Given the description of an element on the screen output the (x, y) to click on. 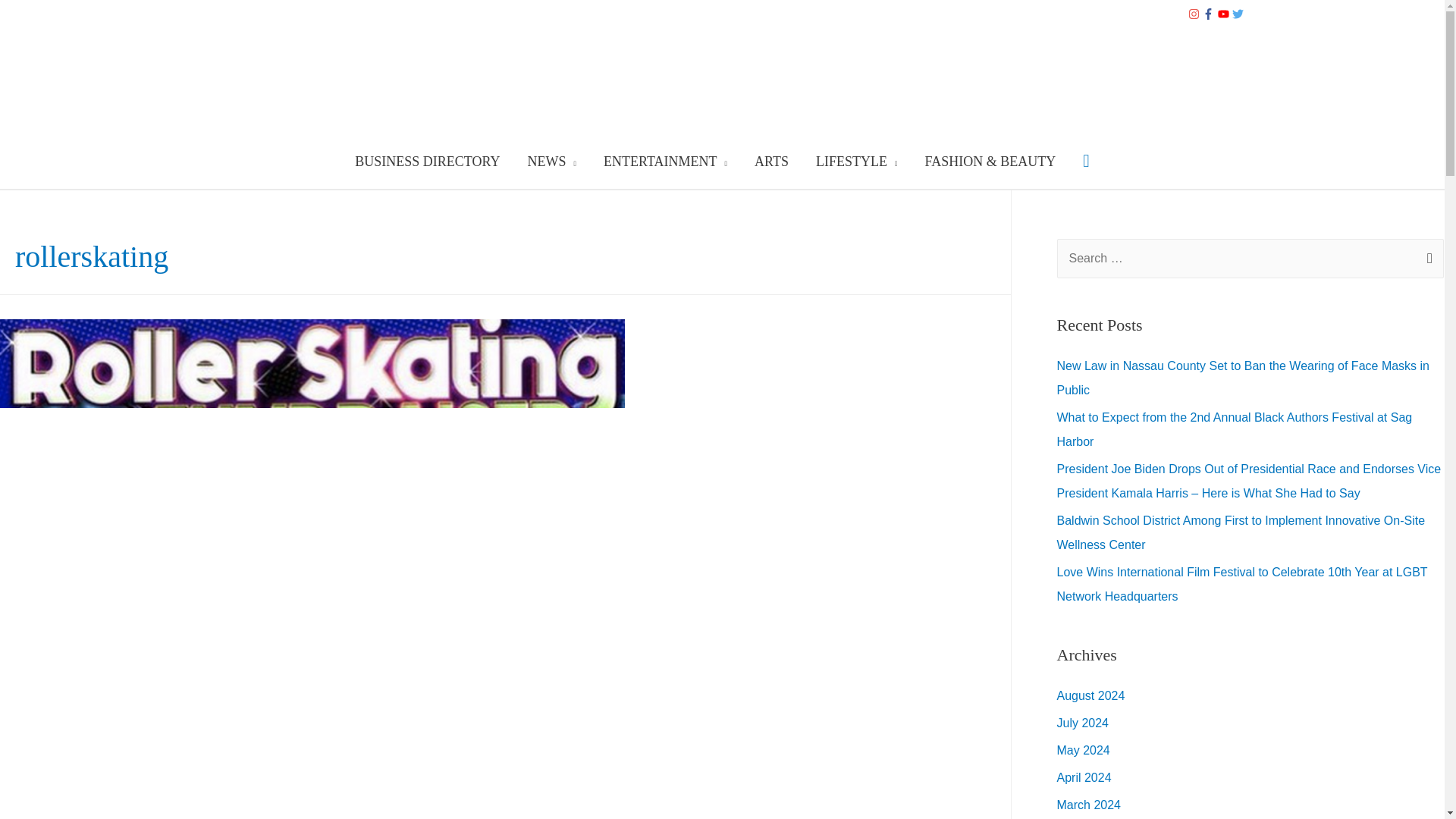
REGISTER (684, 15)
ENTERTAINMENT (665, 161)
NEWS (552, 161)
BUSINESS DIRECTORY (260, 15)
ADVERTISE (377, 15)
LIFESTYLE (856, 161)
SUBSCRIBE TO OUR NEWSLETTER (533, 15)
WRITE FOR US (778, 15)
ARTS (771, 161)
BUSINESS DIRECTORY (426, 161)
